Given the description of an element on the screen output the (x, y) to click on. 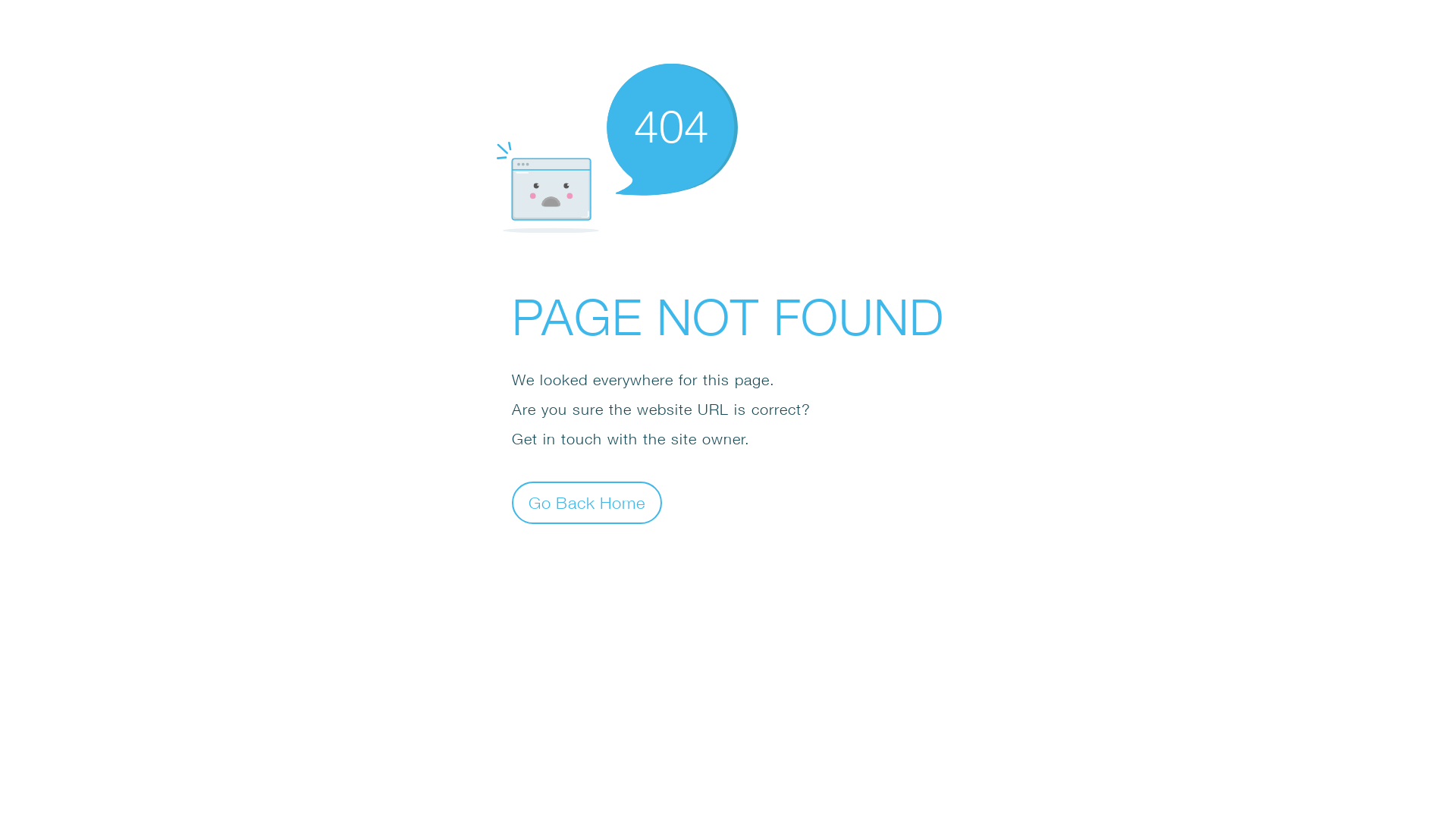
Go Back Home Element type: text (586, 502)
